Given the description of an element on the screen output the (x, y) to click on. 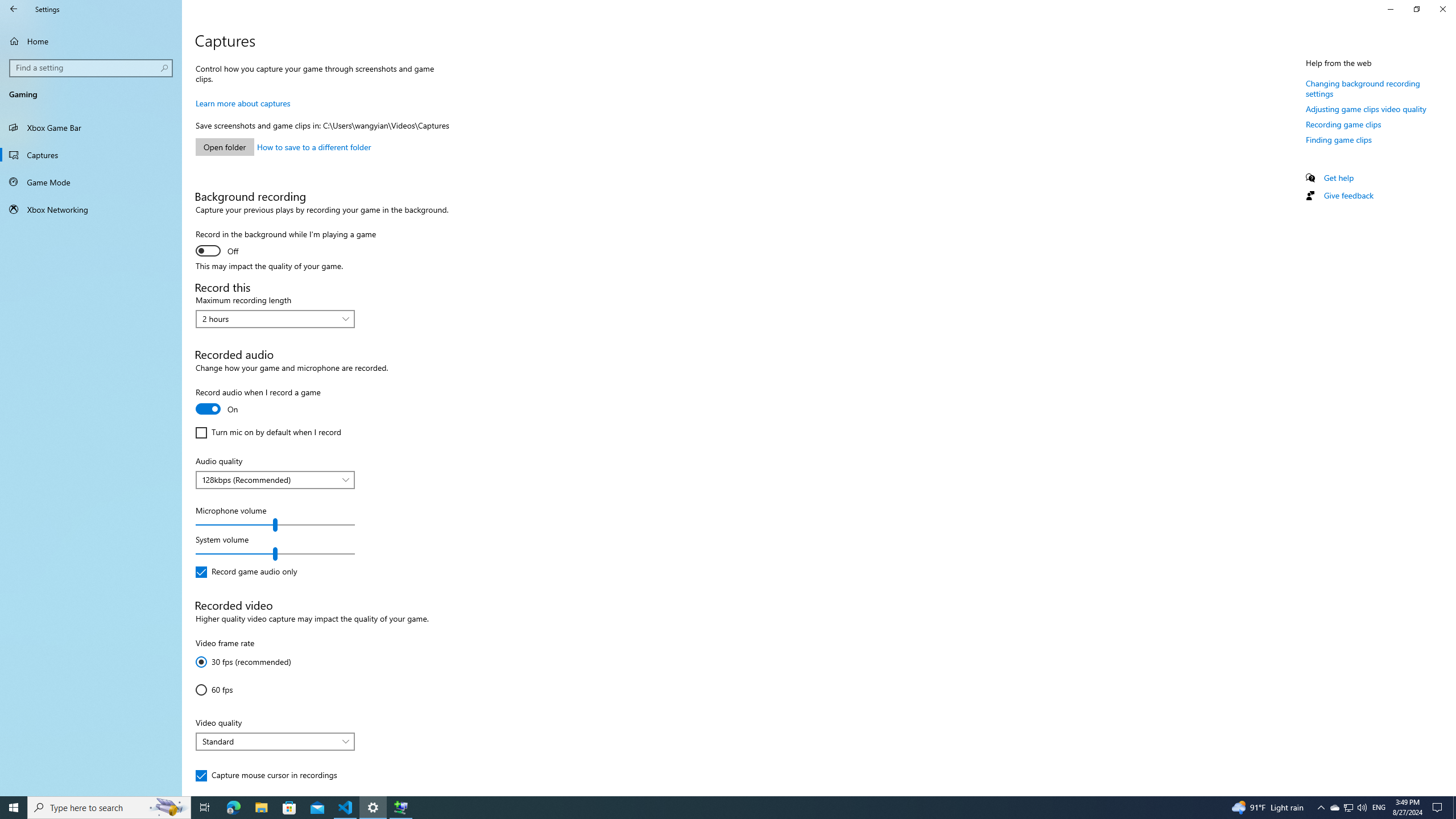
Maximum recording length (275, 318)
2 hours (269, 318)
Recording game clips (1343, 123)
Record game audio only (246, 572)
Captures (91, 154)
Game Mode (91, 181)
Record audio when I record a game (257, 401)
Capture mouse cursor in recordings (266, 775)
Xbox Networking (91, 208)
